Given the description of an element on the screen output the (x, y) to click on. 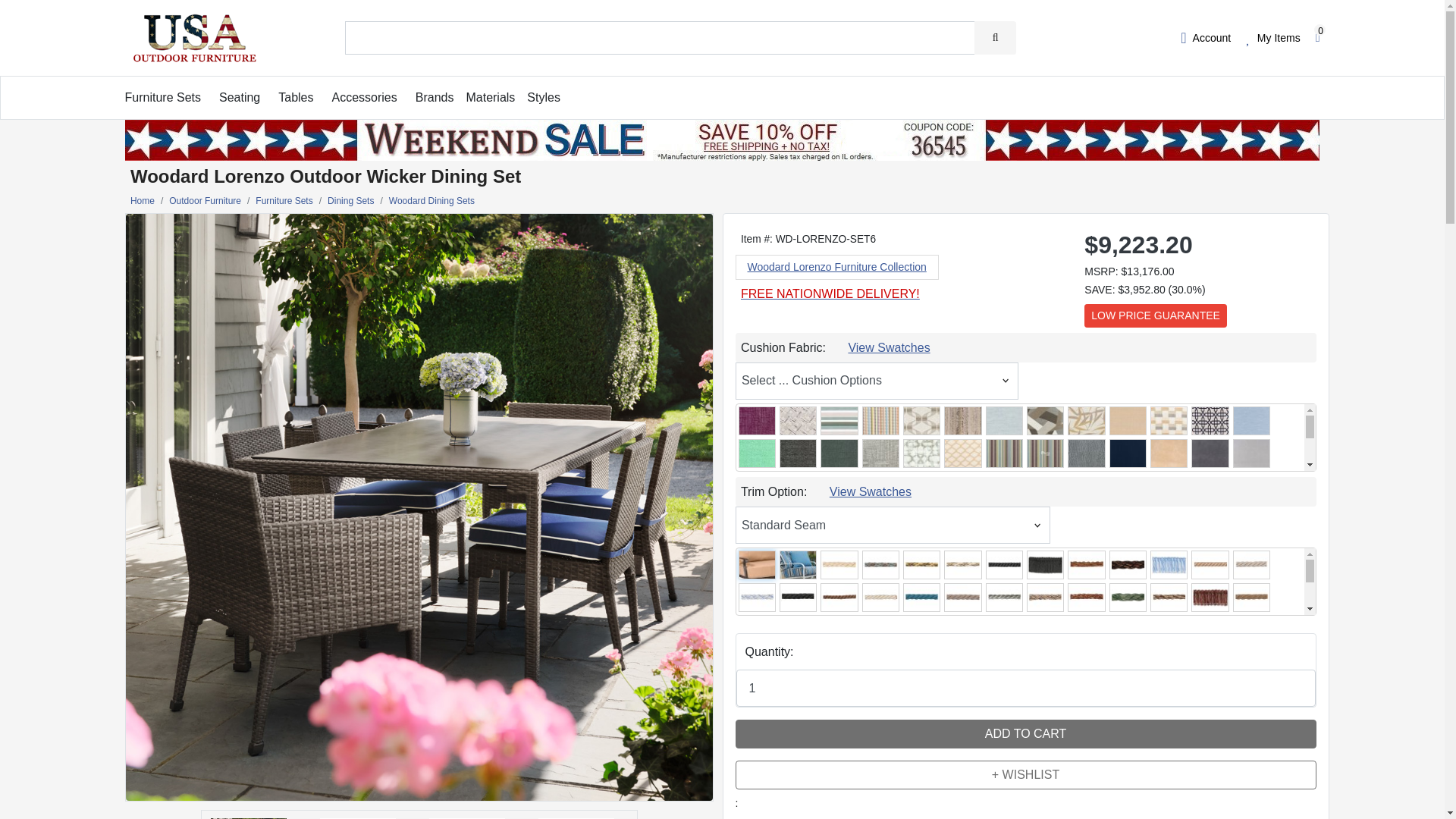
1 (1024, 687)
Add to Cart (1025, 733)
Account (1205, 37)
Tables (295, 97)
Furniture Sets (161, 97)
Seating (239, 97)
My Items (1273, 37)
